Given the description of an element on the screen output the (x, y) to click on. 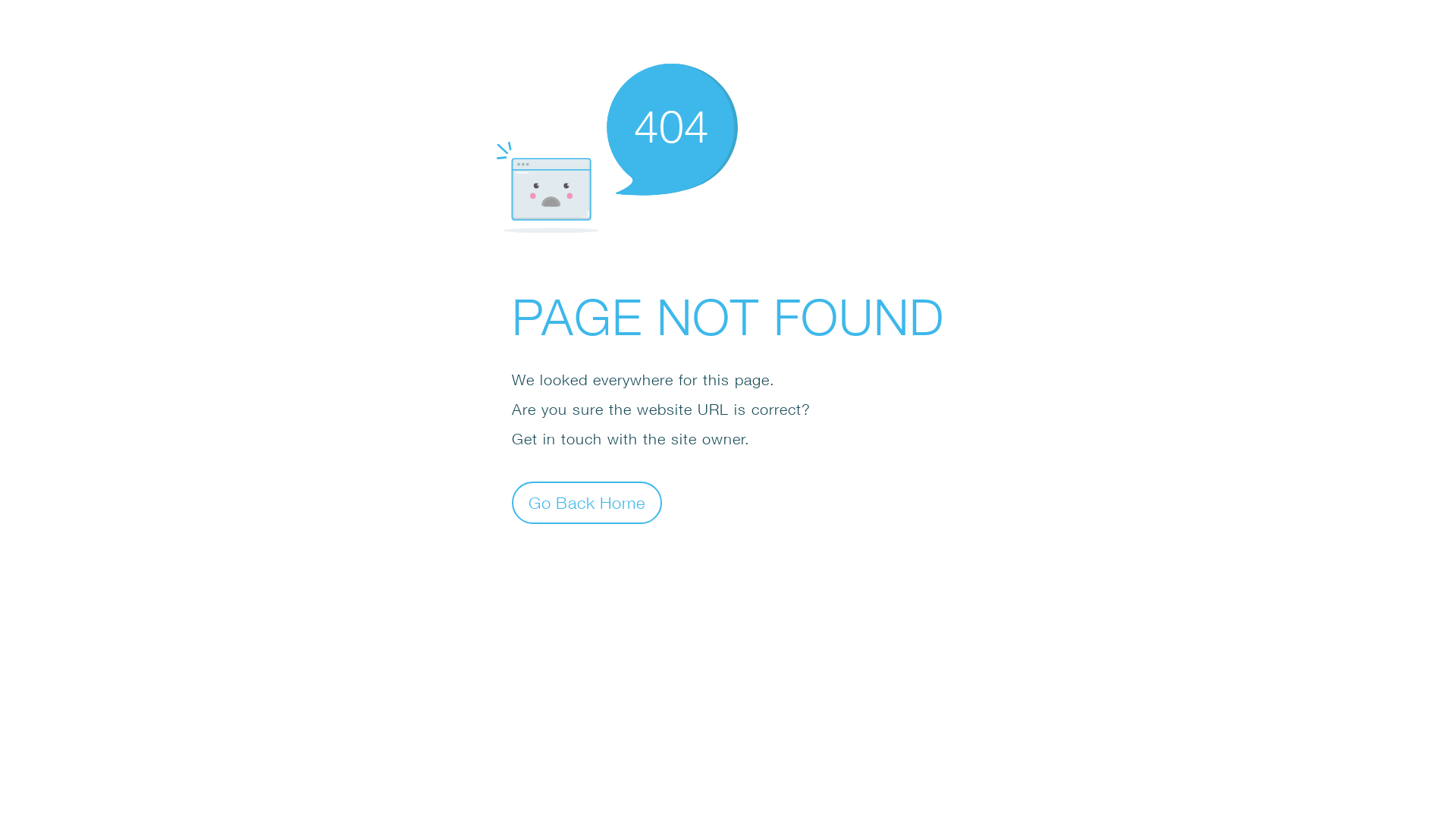
Go Back Home Element type: text (586, 502)
